Given the description of an element on the screen output the (x, y) to click on. 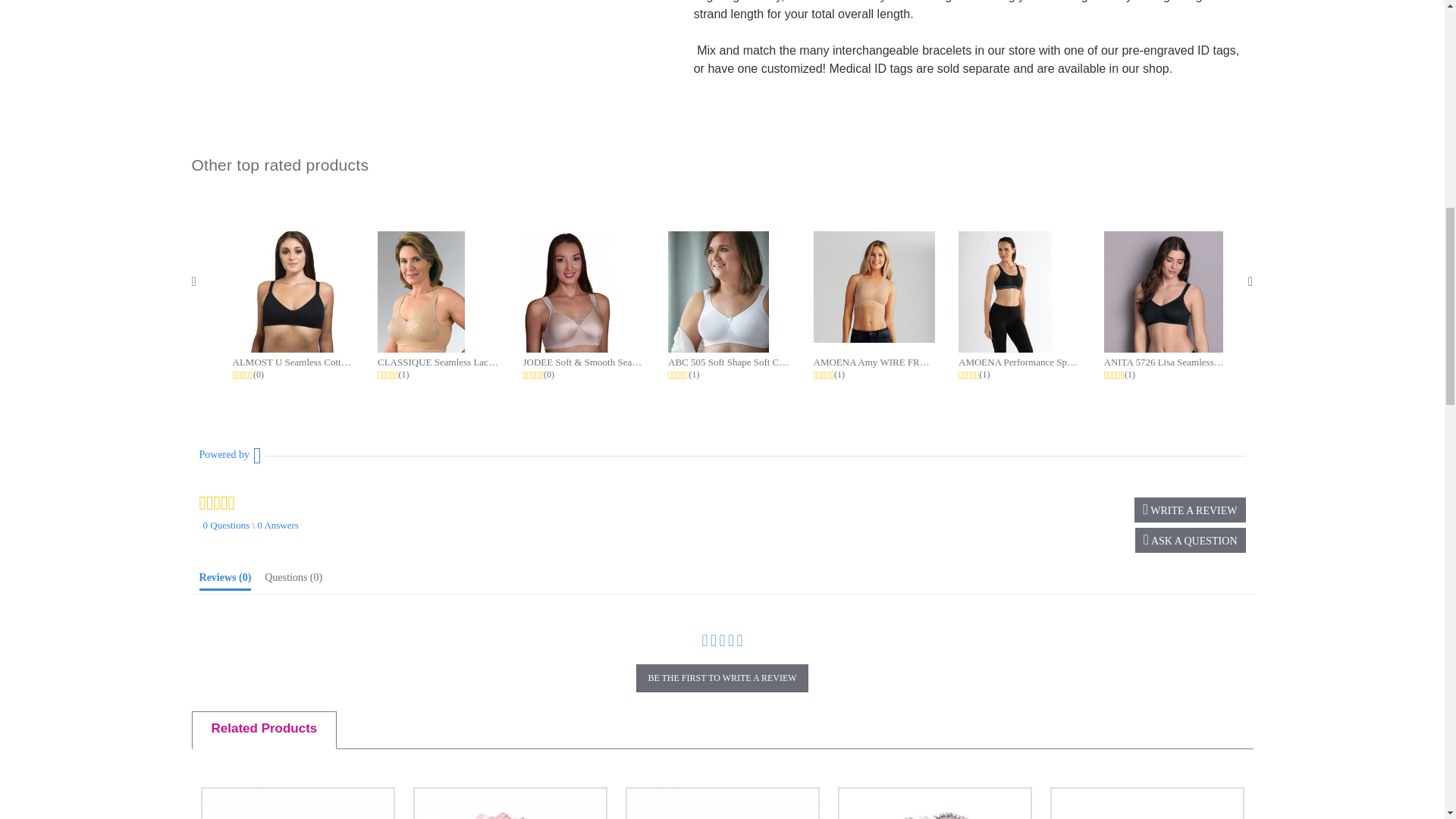
Medical ID Mysterious Bead Interchangeable Bracelet Strand (297, 804)
Medical ID Pink Bead Interchangeable Bracelet Strand (509, 804)
